Given the description of an element on the screen output the (x, y) to click on. 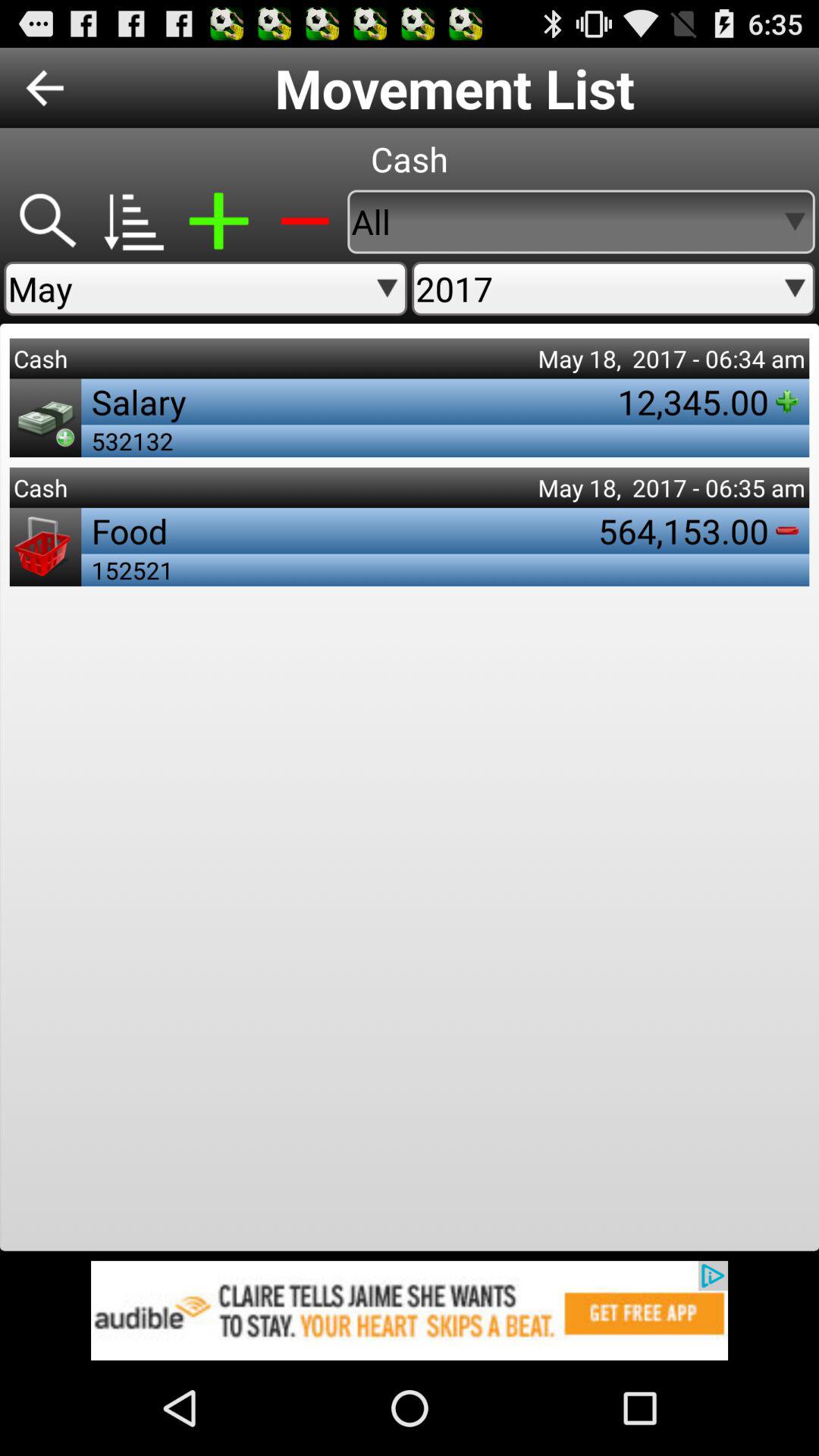
reorder (132, 221)
